Given the description of an element on the screen output the (x, y) to click on. 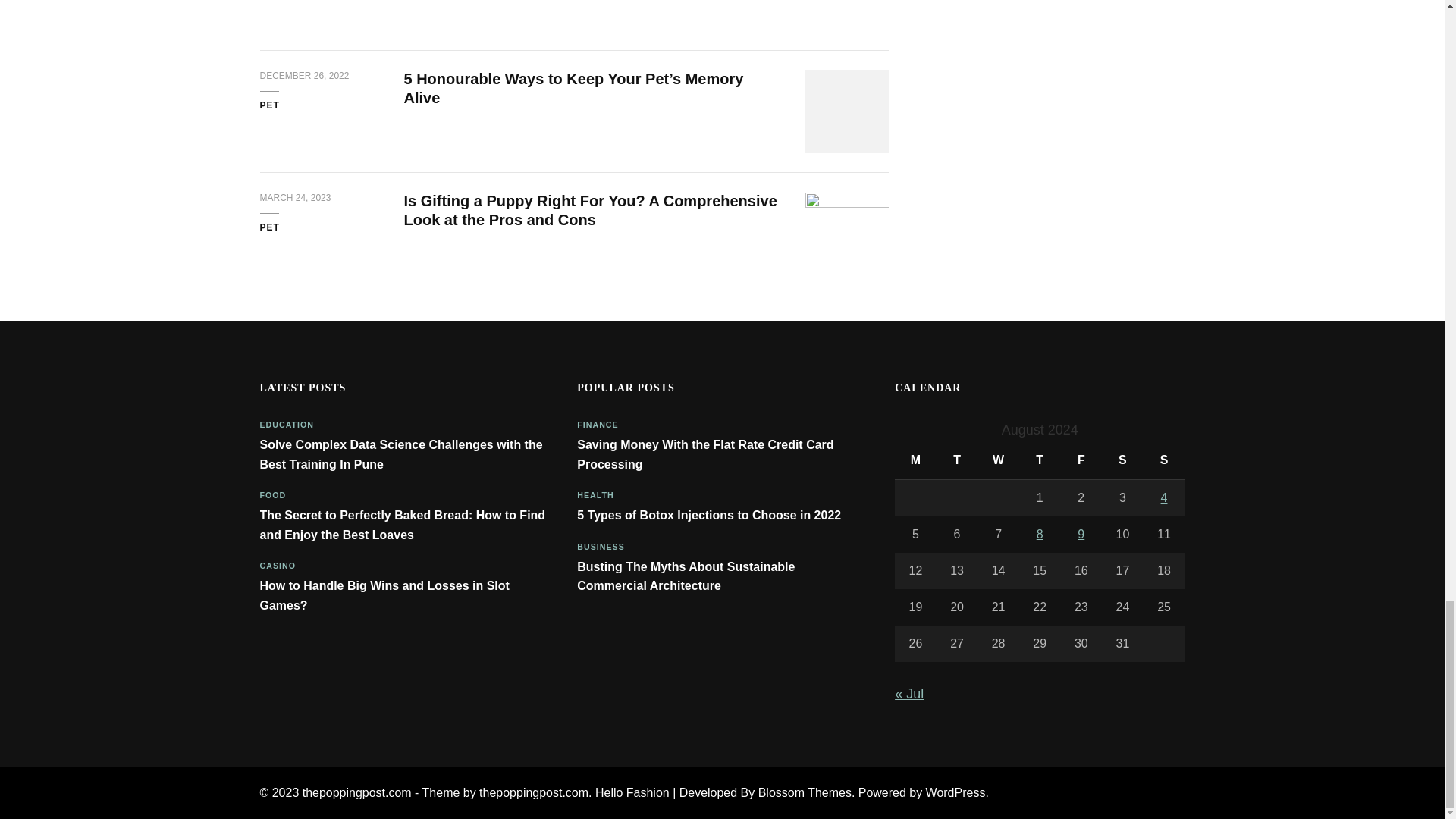
Monday (915, 460)
Wednesday (997, 460)
Thursday (1040, 460)
Saturday (1122, 460)
Tuesday (957, 460)
Sunday (1163, 460)
MARCH 24, 2023 (294, 198)
Friday (1080, 460)
DECEMBER 26, 2022 (304, 76)
PET (269, 106)
